Given the description of an element on the screen output the (x, y) to click on. 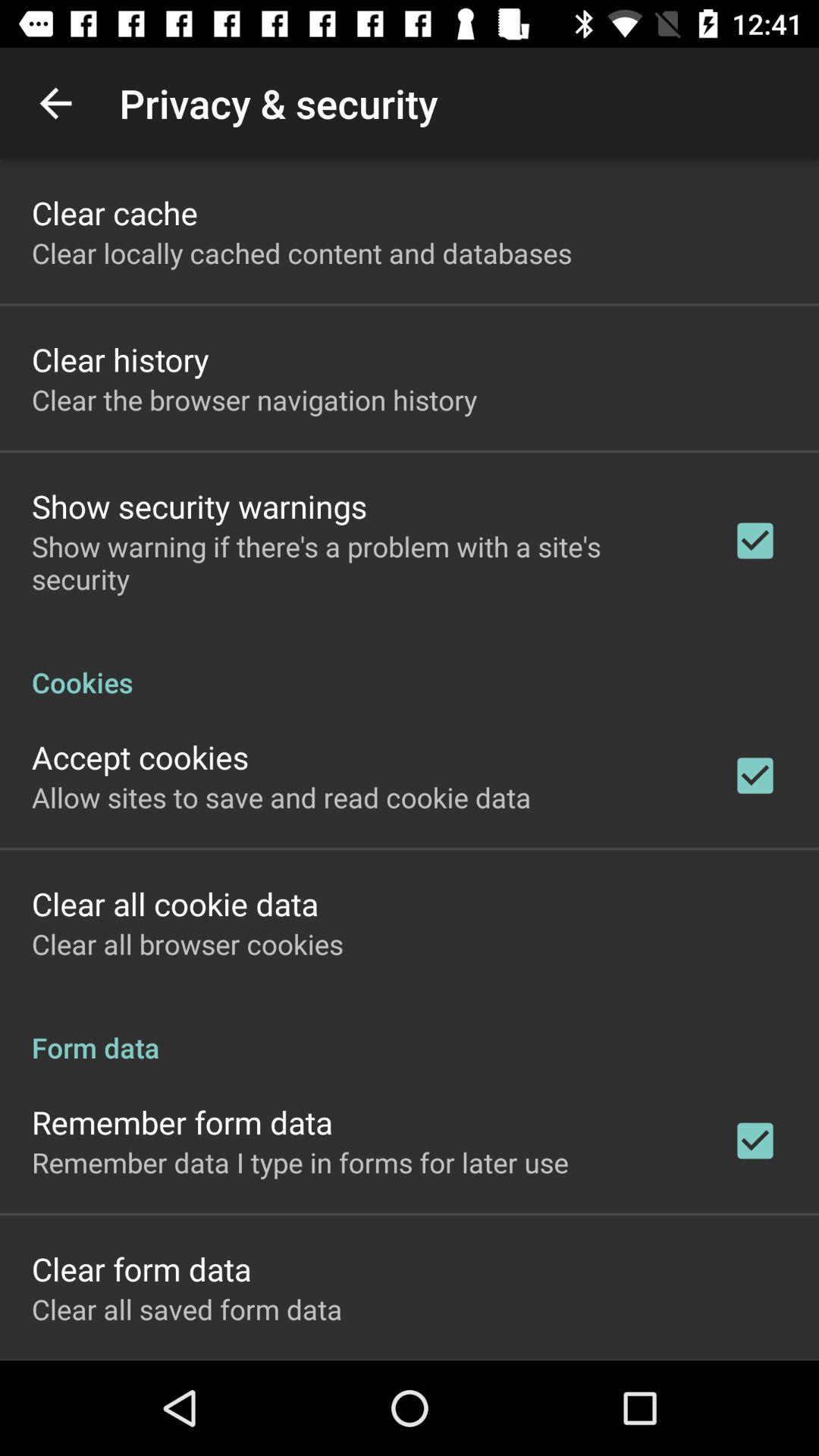
launch show warning if icon (361, 562)
